Given the description of an element on the screen output the (x, y) to click on. 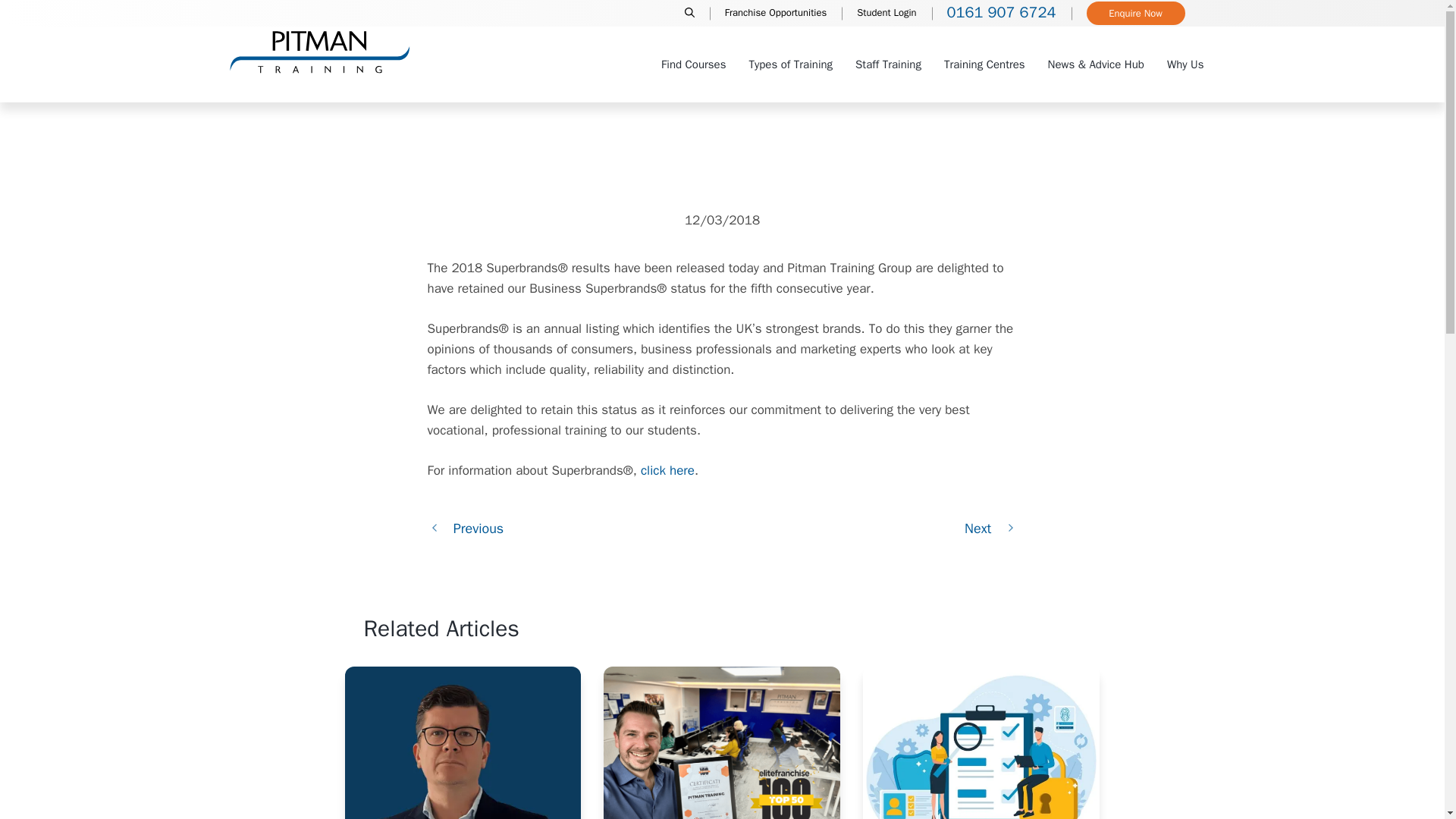
Franchise Opportunities (775, 13)
Student Login (886, 13)
Superbrand Status for 5th Year Running (989, 528)
Press For Progress - FREE Career Coaching (465, 528)
Enquire Now (1135, 13)
Find Courses (692, 64)
0161 907 6724 (1001, 13)
